Given the description of an element on the screen output the (x, y) to click on. 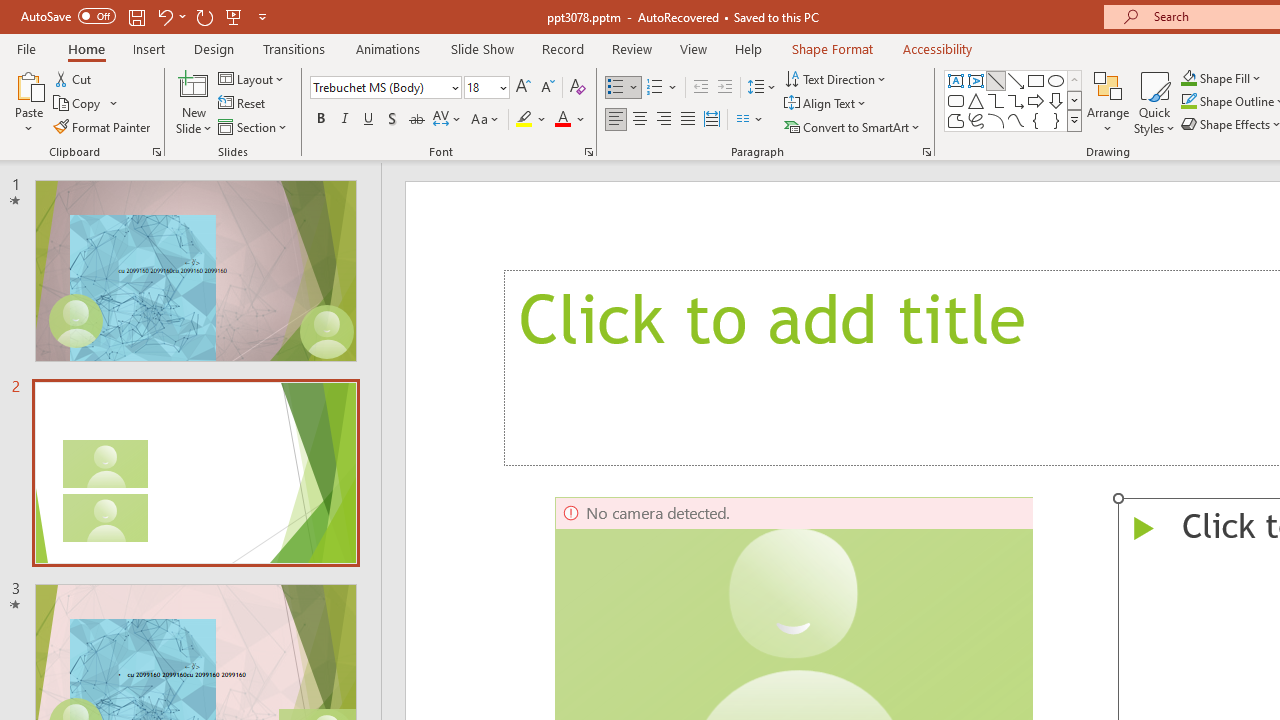
Arc (995, 120)
Convert to SmartArt (853, 126)
Shape Outline Green, Accent 1 (1188, 101)
Arrange (1108, 102)
Align Text (826, 103)
Increase Indent (725, 87)
Decrease Indent (700, 87)
Align Left (616, 119)
Strikethrough (416, 119)
